Given the description of an element on the screen output the (x, y) to click on. 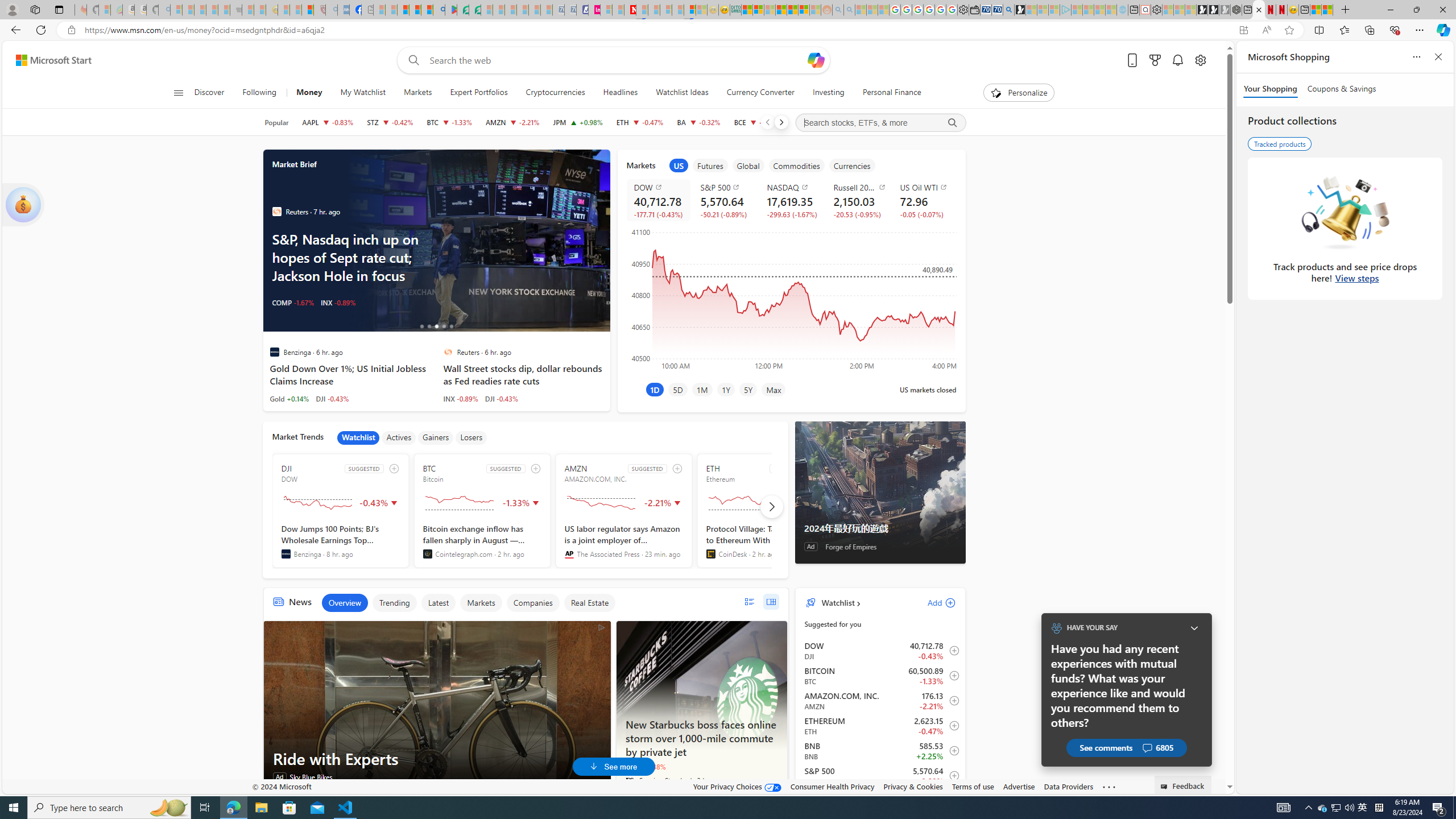
DJI DOW decrease 40,712.78 -177.71 -0.43% item0 (880, 650)
S&P 500 INX decrease 5,570.64 -50.21 -0.89% (725, 200)
1Y (725, 389)
Add to Watchlist (950, 775)
SBUX -0.38% (644, 766)
Expert Portfolios (478, 92)
Local - MSN (307, 9)
App available. Install Start Money (1243, 29)
Markets (417, 92)
